Given the description of an element on the screen output the (x, y) to click on. 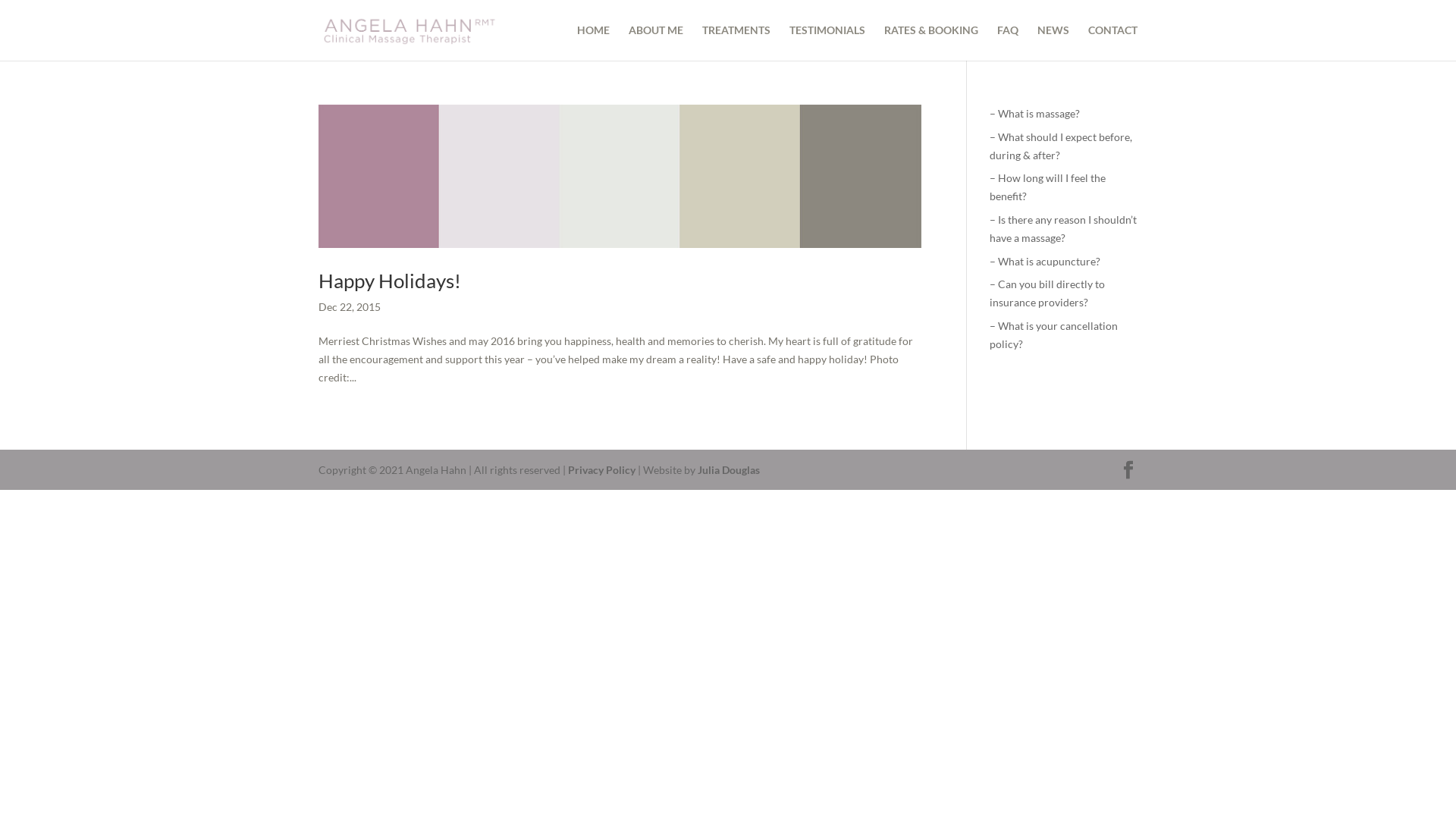
Happy Holidays! Element type: text (389, 280)
TESTIMONIALS Element type: text (827, 42)
CONTACT Element type: text (1112, 42)
FAQ Element type: text (1007, 42)
Privacy Policy Element type: text (601, 469)
NEWS Element type: text (1053, 42)
TREATMENTS Element type: text (736, 42)
RATES & BOOKING Element type: text (931, 42)
ABOUT ME Element type: text (655, 42)
Julia Douglas Element type: text (728, 469)
HOME Element type: text (593, 42)
